Given the description of an element on the screen output the (x, y) to click on. 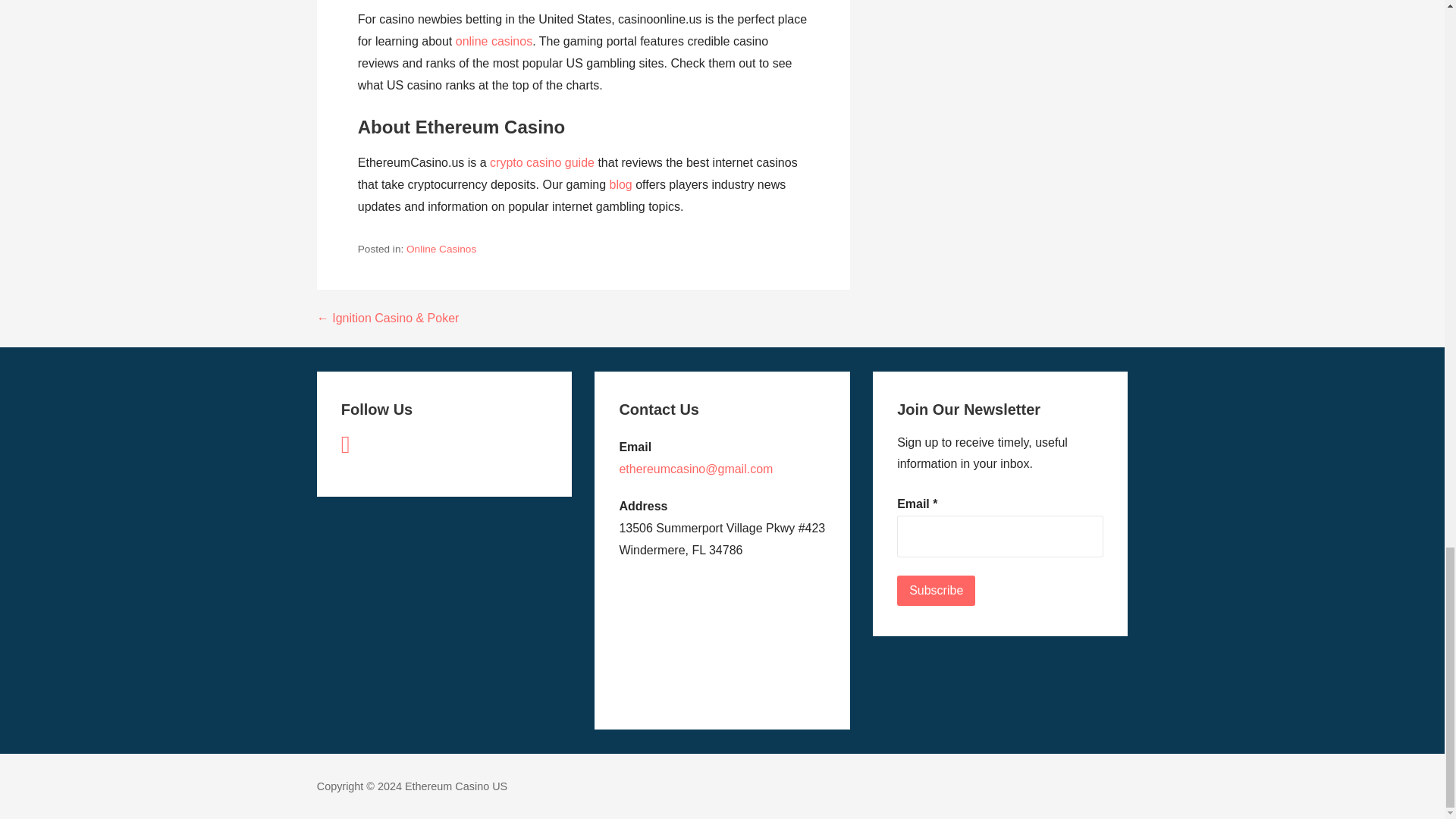
Subscribe (935, 590)
Subscribe (935, 590)
crypto casino guide (541, 162)
Online Casinos (441, 248)
online casinos (493, 41)
blog (619, 184)
